Given the description of an element on the screen output the (x, y) to click on. 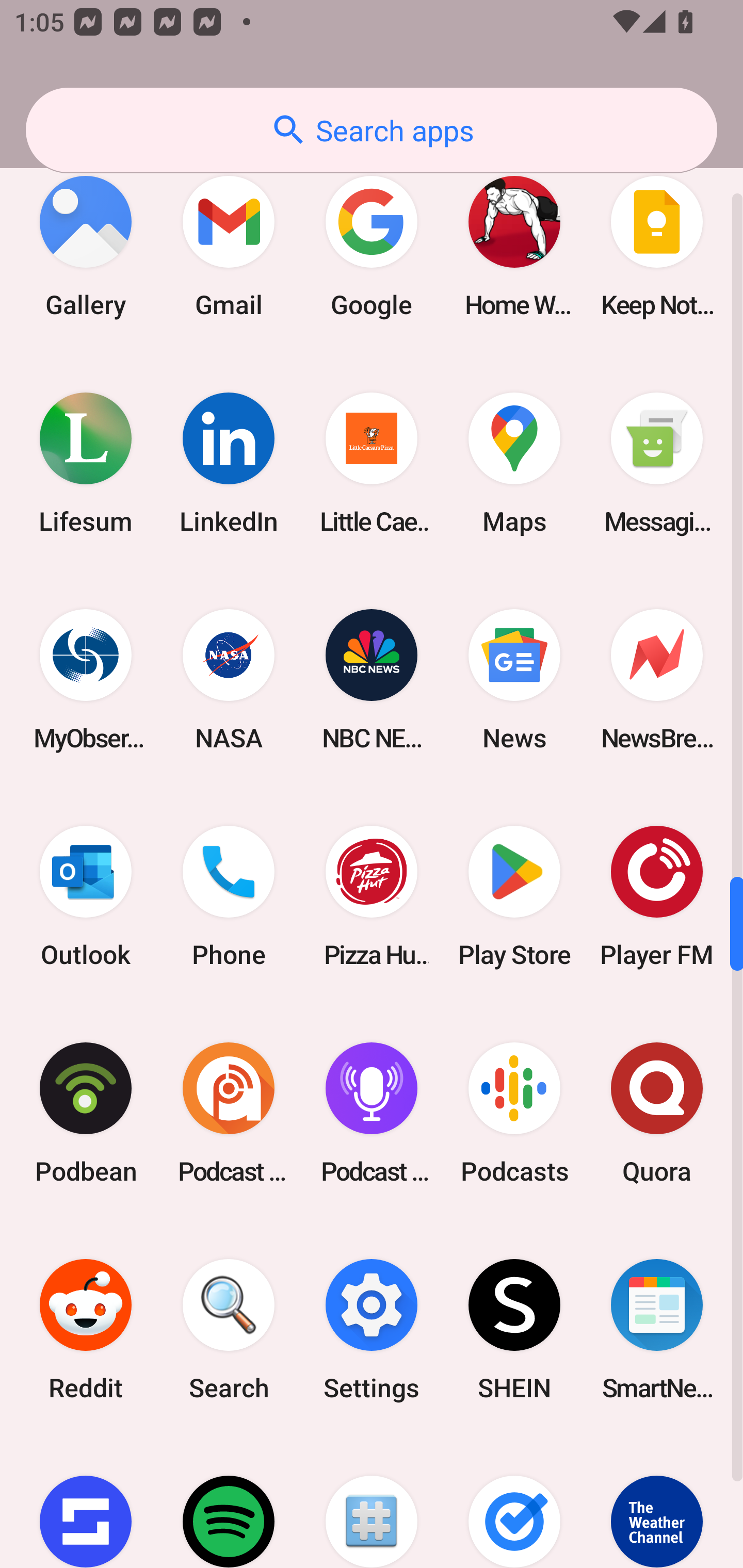
  Search apps (371, 130)
Gallery (85, 245)
Gmail (228, 245)
Google (371, 245)
Home Workout (514, 245)
Keep Notes (656, 245)
Lifesum (85, 462)
LinkedIn (228, 462)
Little Caesars Pizza (371, 462)
Maps (514, 462)
Messaging (656, 462)
MyObservatory (85, 679)
NASA (228, 679)
NBC NEWS (371, 679)
News (514, 679)
NewsBreak (656, 679)
Outlook (85, 896)
Phone (228, 896)
Pizza Hut HK & Macau (371, 896)
Play Store (514, 896)
Player FM (656, 896)
Podbean (85, 1113)
Podcast Addict (228, 1113)
Podcast Player (371, 1113)
Podcasts (514, 1113)
Quora (656, 1113)
Reddit (85, 1329)
Search (228, 1329)
Settings (371, 1329)
SHEIN (514, 1329)
SmartNews (656, 1329)
Sofascore (85, 1502)
Spotify (228, 1502)
Superuser (371, 1502)
Tasks (514, 1502)
The Weather Channel (656, 1502)
